Given the description of an element on the screen output the (x, y) to click on. 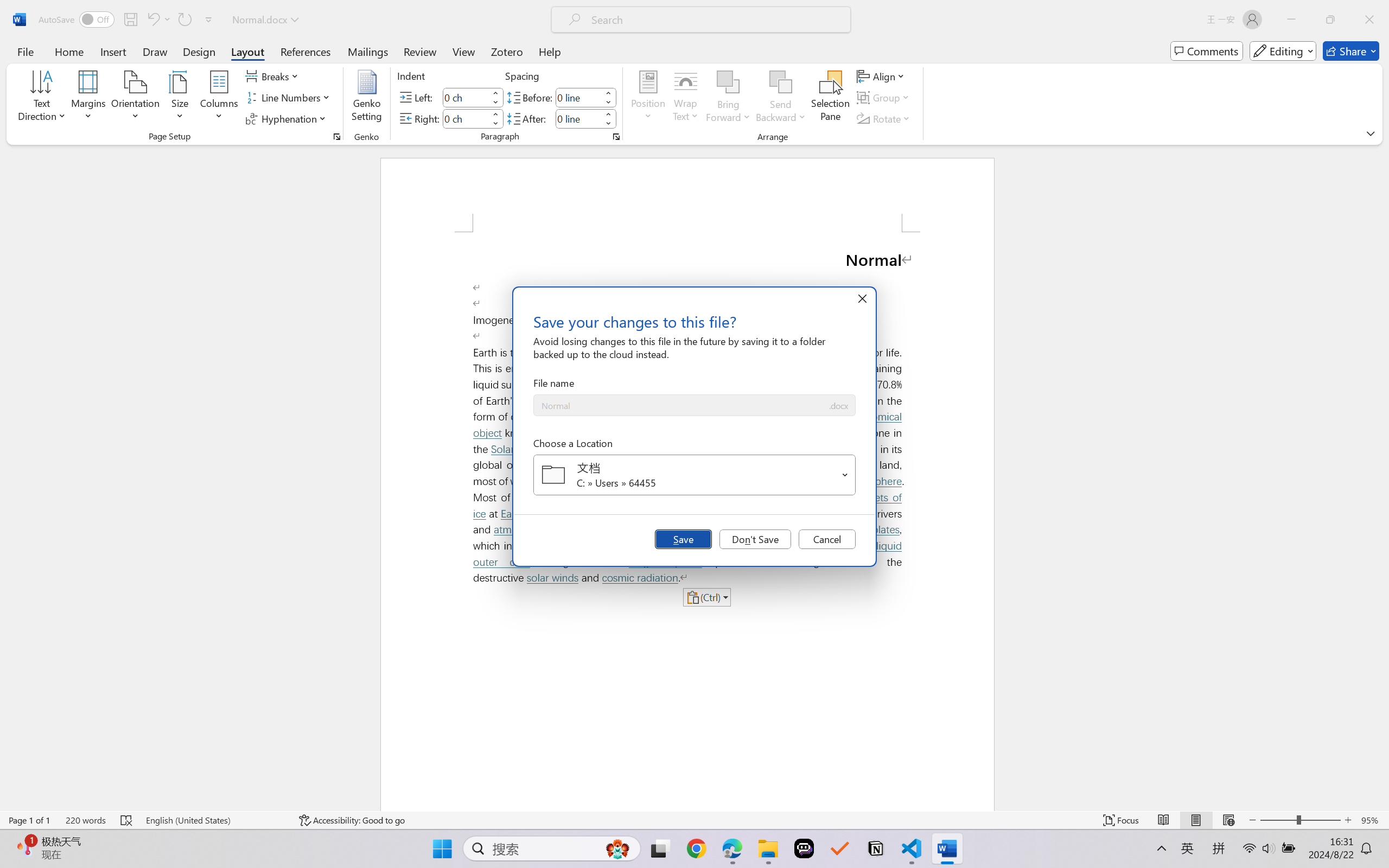
Help (549, 51)
Columns (219, 97)
Line Numbers (289, 97)
Repeat Paste Option (184, 19)
Wrap Text (685, 97)
Microsoft search (715, 19)
More (608, 113)
Less (608, 123)
